Given the description of an element on the screen output the (x, y) to click on. 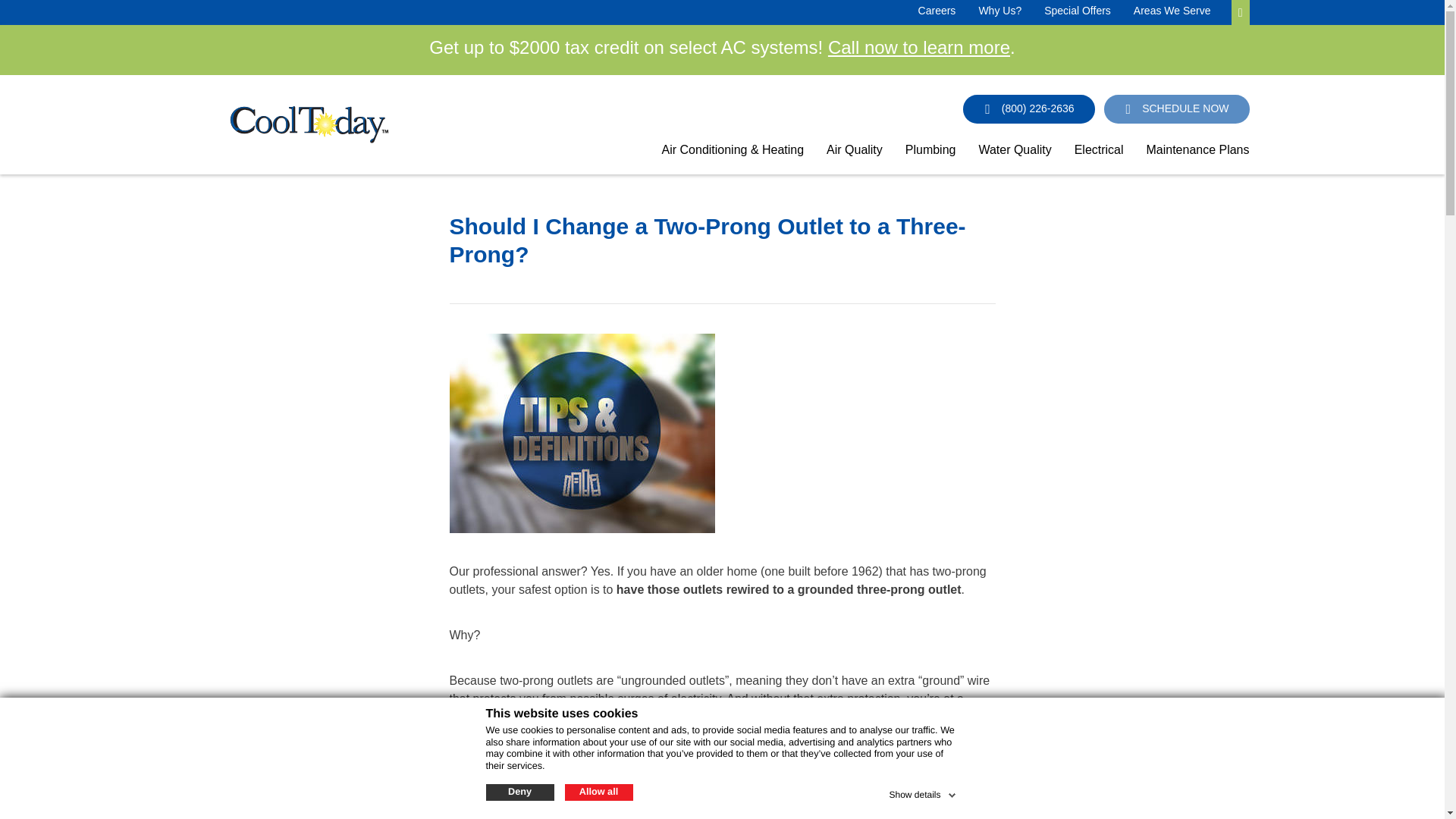
Allow all (597, 791)
Deny (518, 791)
Show details (923, 791)
